Given the description of an element on the screen output the (x, y) to click on. 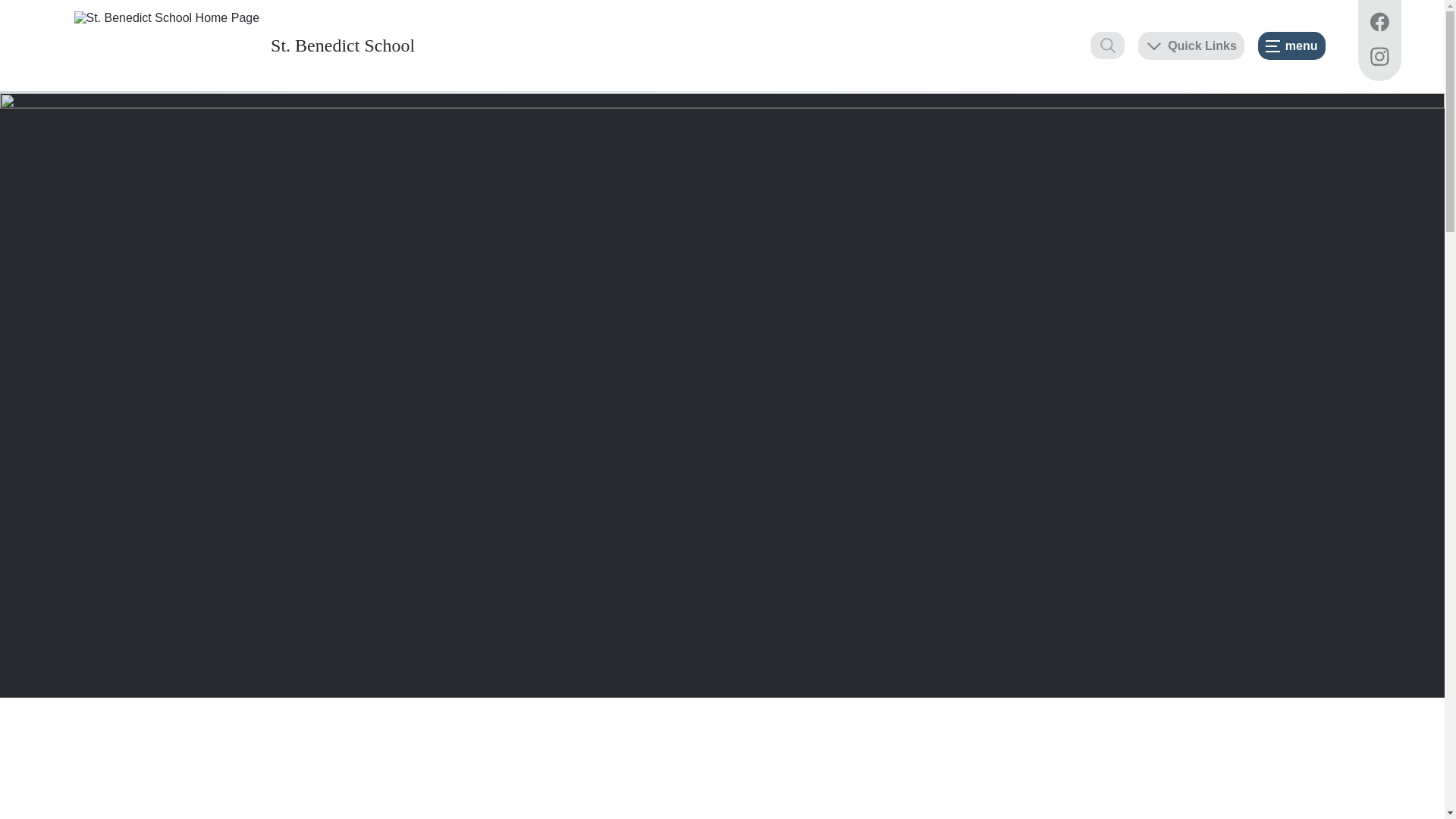
home Element type: hover (167, 45)
Instagram Element type: text (1378, 58)
Facebook Element type: text (1378, 23)
menu Element type: text (1291, 45)
Quick Links Element type: text (1191, 45)
